Given the description of an element on the screen output the (x, y) to click on. 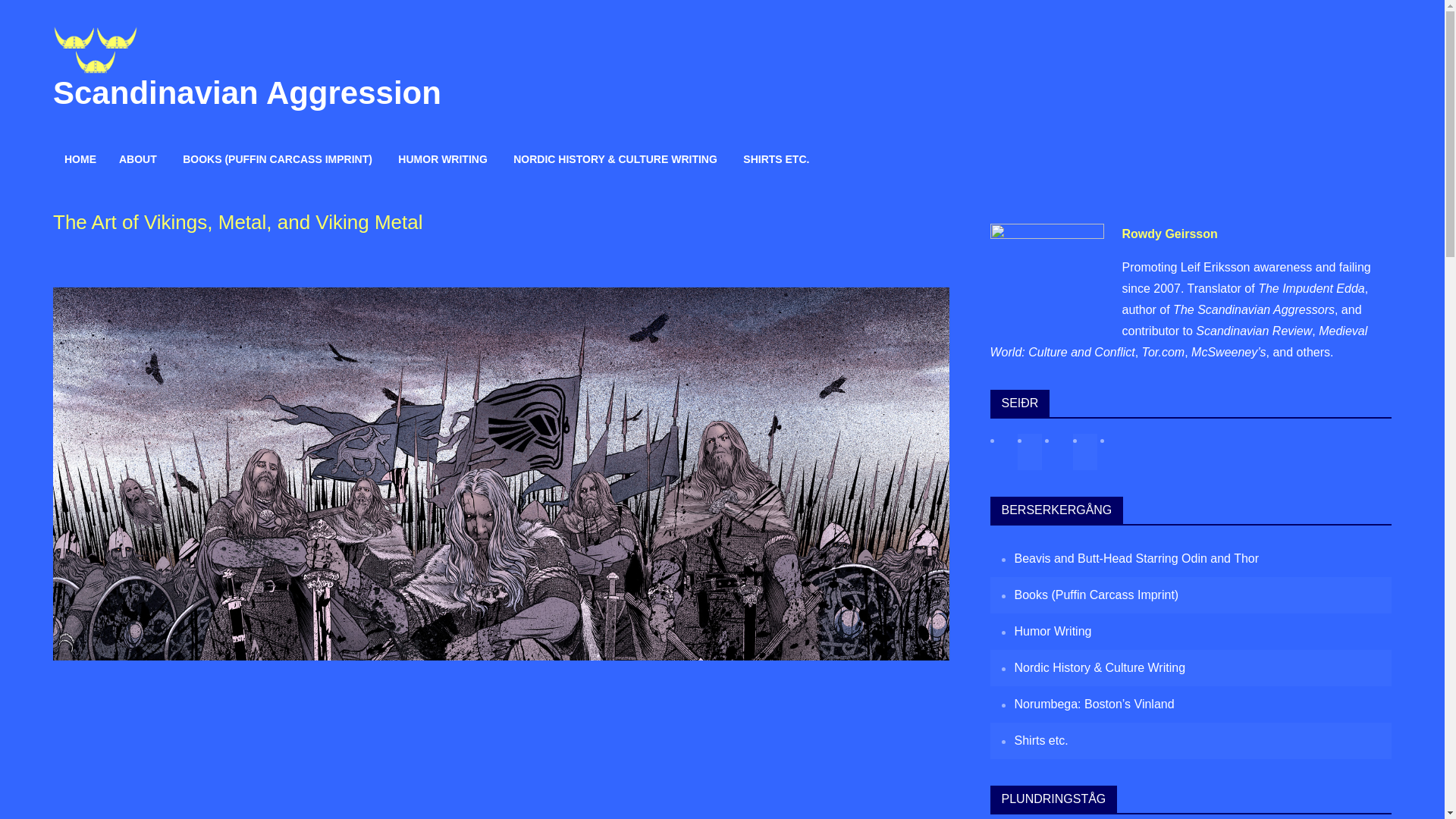
ABOUT (137, 158)
Medieval World: Culture and Conflict (1179, 341)
The Scandinavian Aggressors (1254, 309)
Scandinavian Review (1253, 330)
HOME (79, 158)
Scandinavian Aggression (246, 92)
The Impudent Edda (1311, 287)
HUMOR WRITING (442, 158)
SHIRTS ETC. (776, 158)
